Given the description of an element on the screen output the (x, y) to click on. 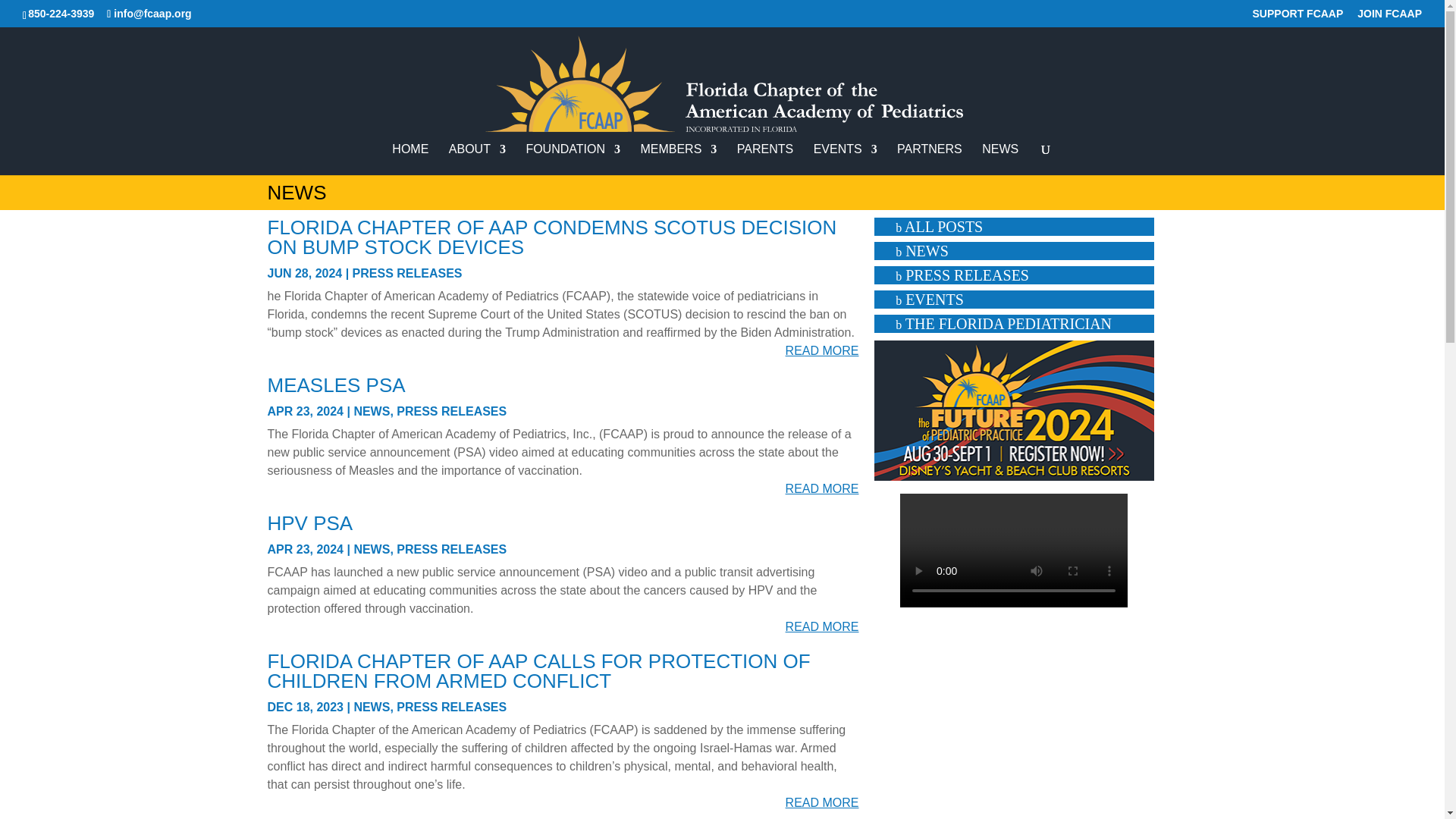
PARENTS (764, 159)
PARTNERS (929, 159)
HOME (409, 159)
SUPPORT FCAAP (1297, 16)
850-224-3939 (60, 13)
MEMBERS (678, 159)
EVENTS (845, 159)
JOIN FCAAP (1389, 16)
NEWS (999, 159)
ABOUT (476, 159)
FOUNDATION (572, 159)
